Given the description of an element on the screen output the (x, y) to click on. 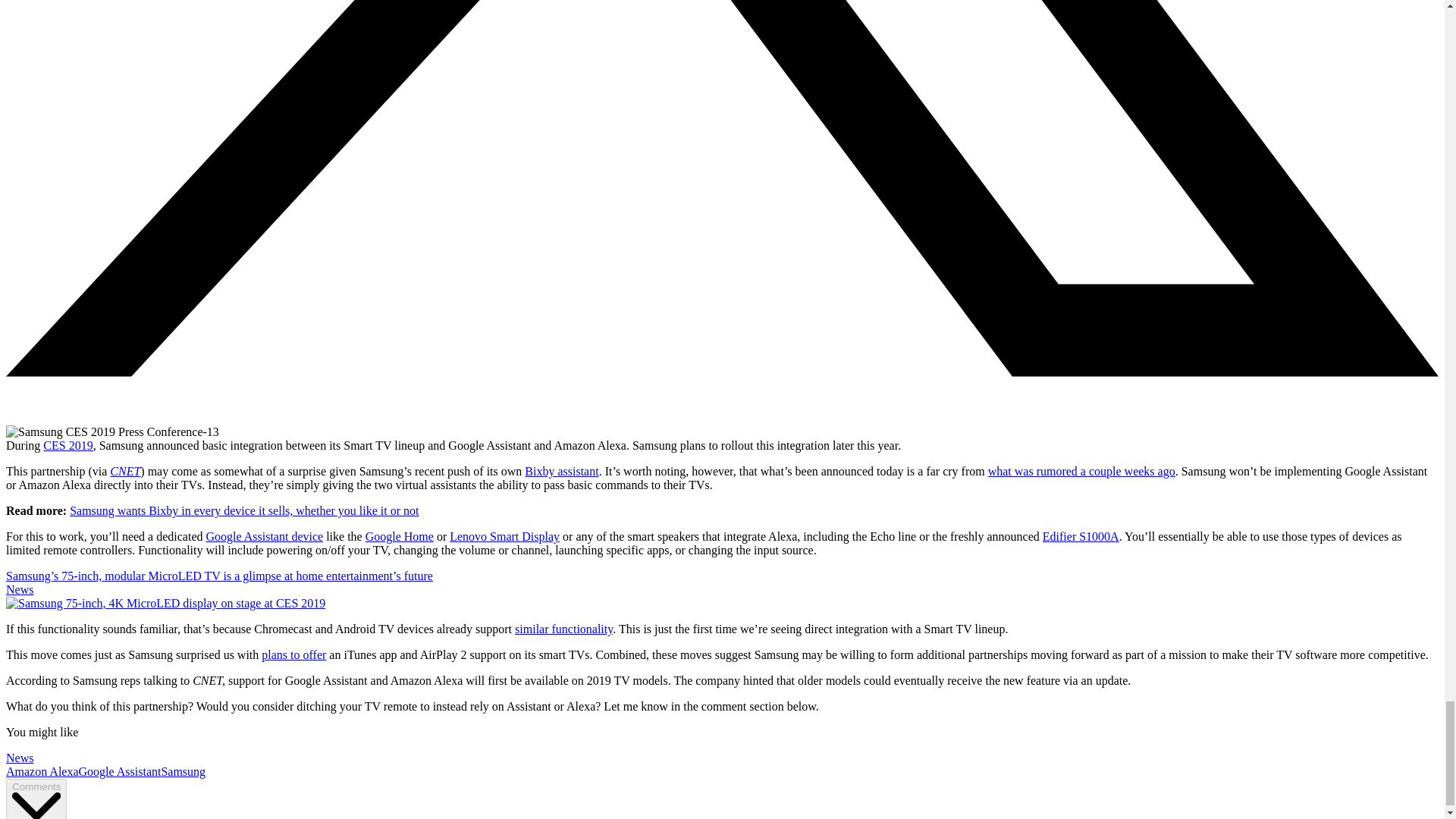
Edifier S1000A (1080, 535)
plans to offer (294, 654)
News (19, 757)
Google Assistant device (264, 535)
Samsung (182, 771)
Google Home (399, 535)
Amazon Alexa (41, 771)
Google Assistant (119, 771)
similar functionality (563, 628)
Samsung CES 2019 Press Conference-13 (112, 431)
